Given the description of an element on the screen output the (x, y) to click on. 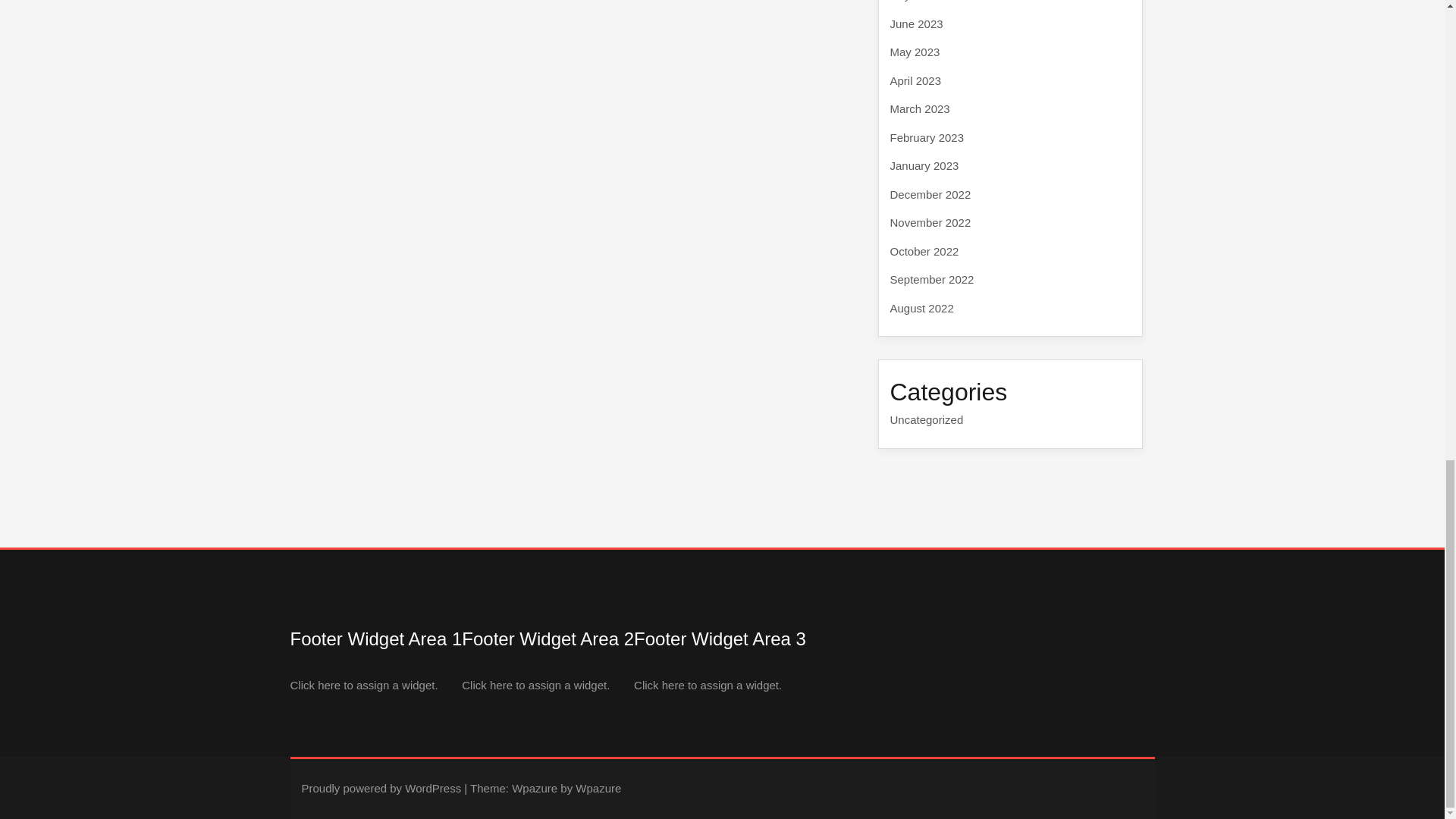
May 2023 (914, 51)
July 2023 (914, 0)
June 2023 (916, 22)
January 2023 (924, 164)
November 2022 (930, 222)
March 2023 (919, 108)
April 2023 (915, 80)
October 2022 (924, 250)
February 2023 (926, 136)
December 2022 (930, 194)
